Given the description of an element on the screen output the (x, y) to click on. 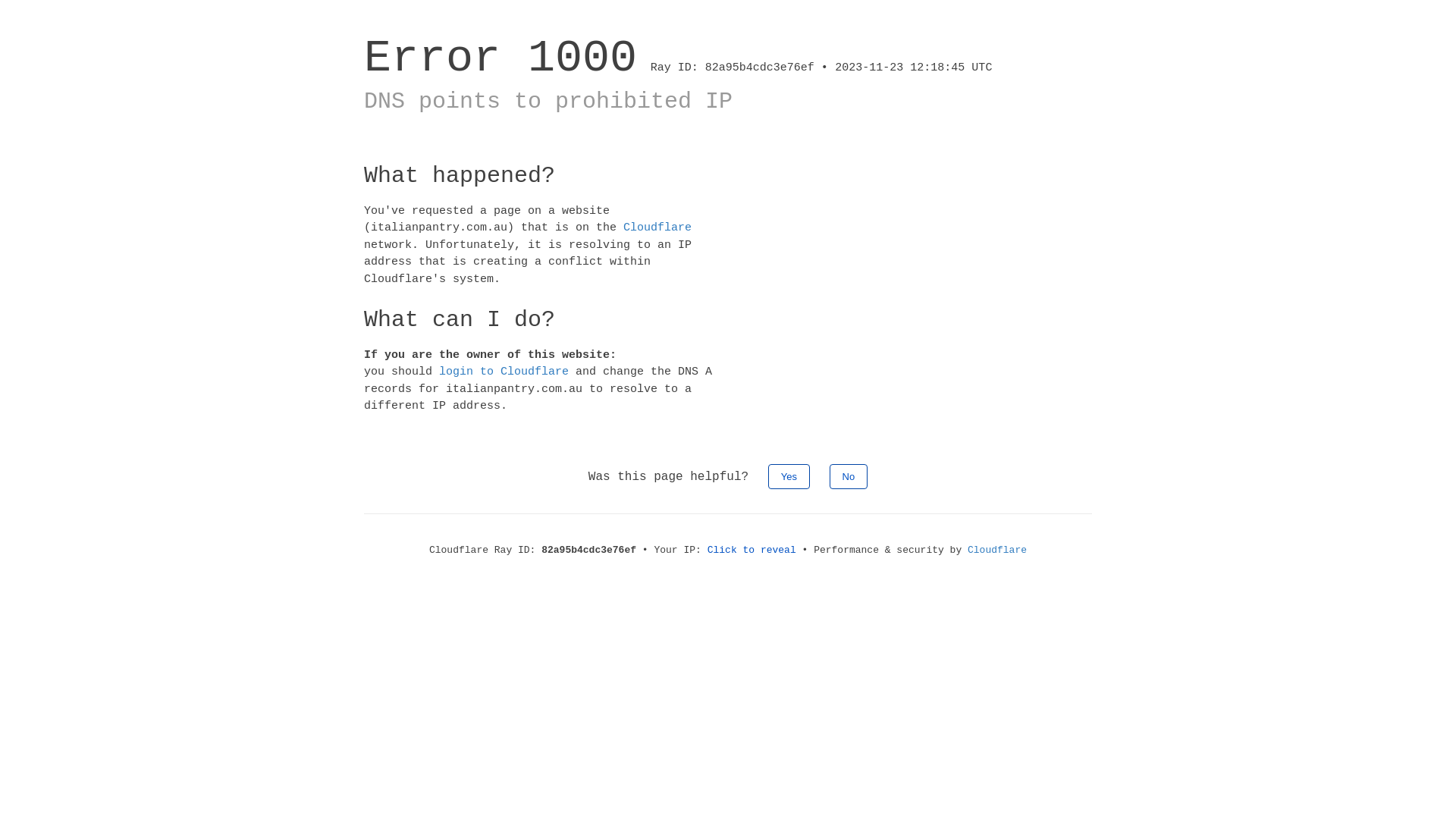
Cloudflare Element type: text (657, 227)
login to Cloudflare Element type: text (503, 371)
Cloudflare Element type: text (996, 549)
No Element type: text (848, 476)
Click to reveal Element type: text (751, 549)
Yes Element type: text (788, 476)
